Given the description of an element on the screen output the (x, y) to click on. 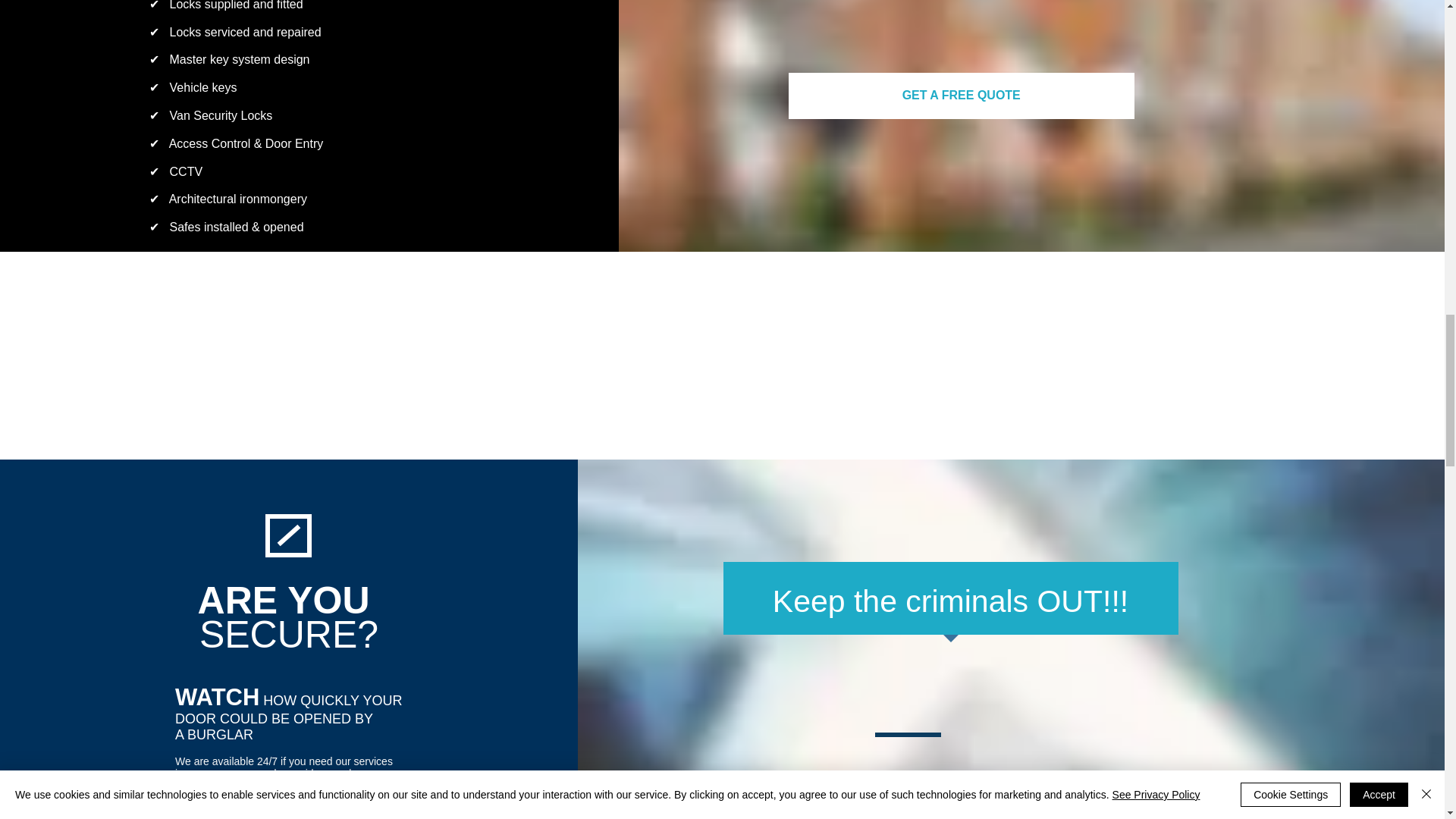
GET A FREE QUOTE (961, 95)
